Given the description of an element on the screen output the (x, y) to click on. 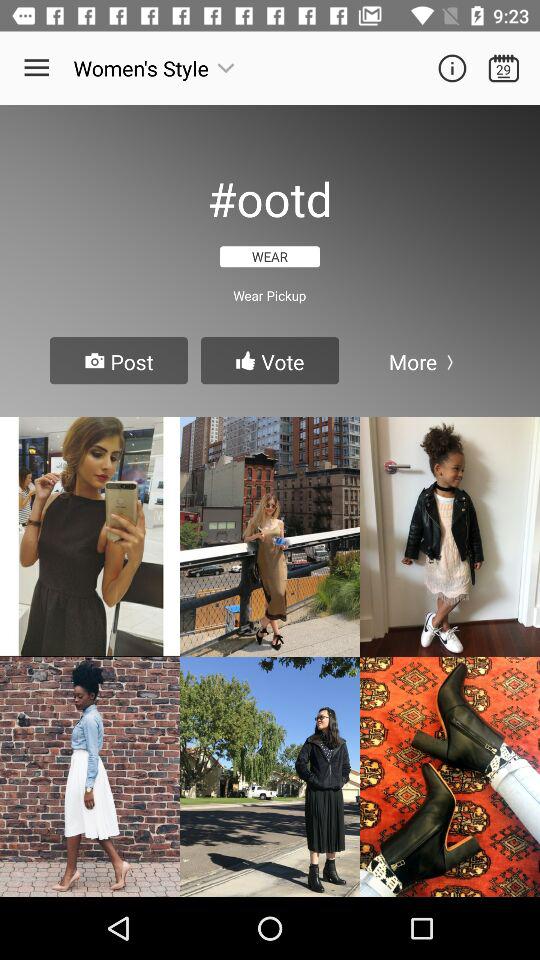
select item next to women's style item (36, 68)
